Given the description of an element on the screen output the (x, y) to click on. 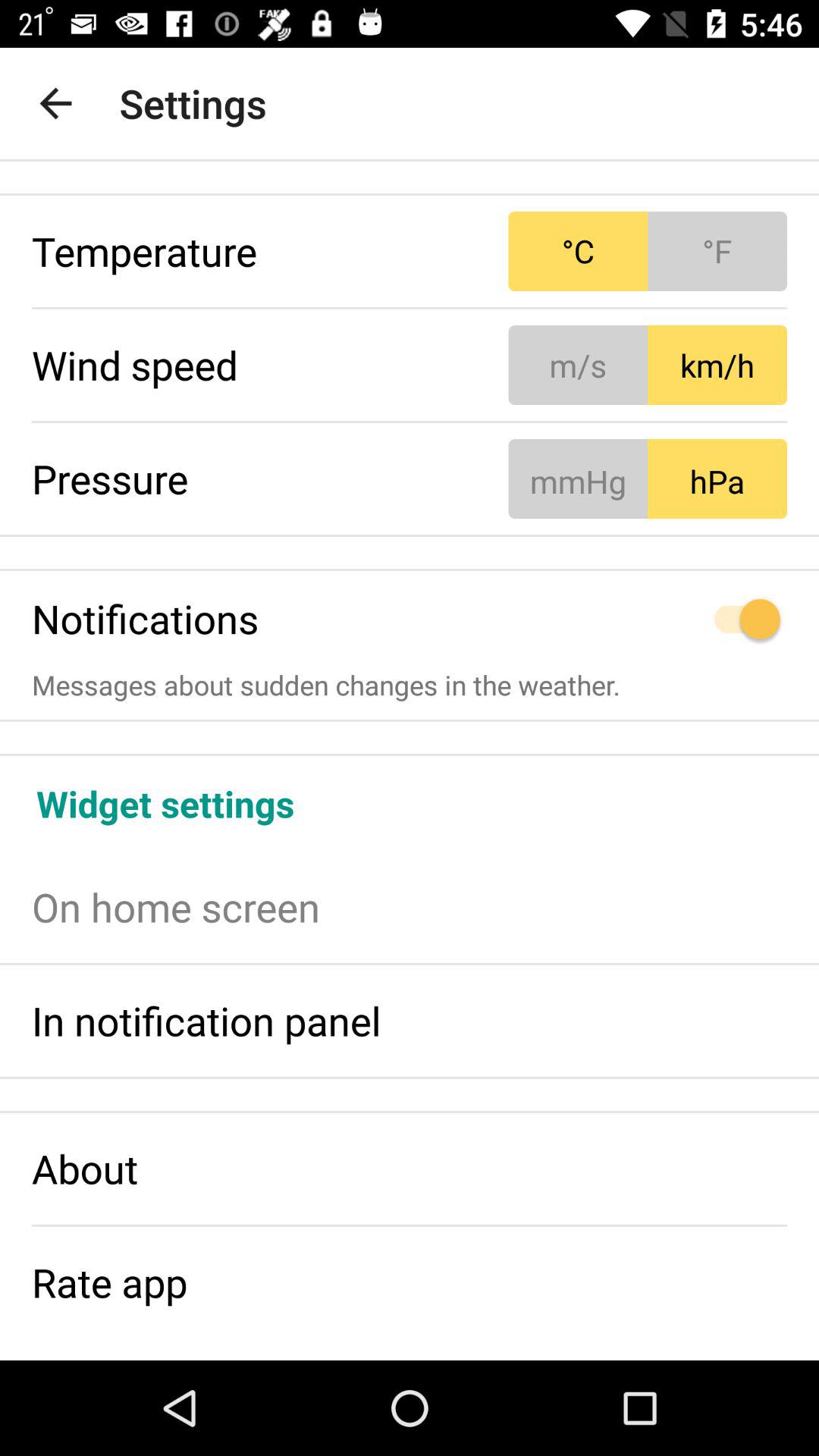
click the item next to pressure (647, 478)
